Given the description of an element on the screen output the (x, y) to click on. 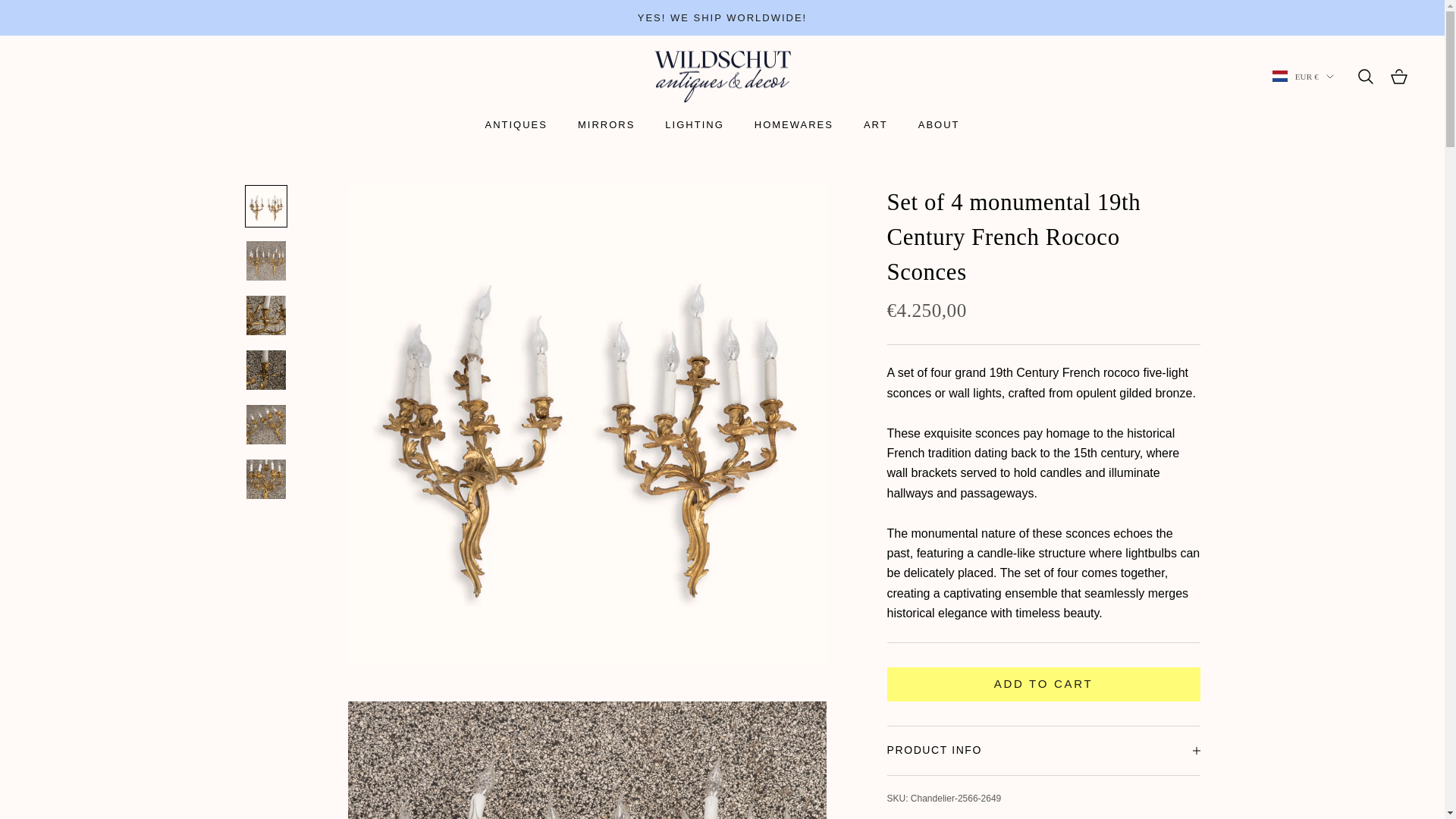
Wildschut Antiques (721, 76)
YES! WE SHIP WORLDWIDE! (721, 17)
Shipping Policy (721, 17)
